Given the description of an element on the screen output the (x, y) to click on. 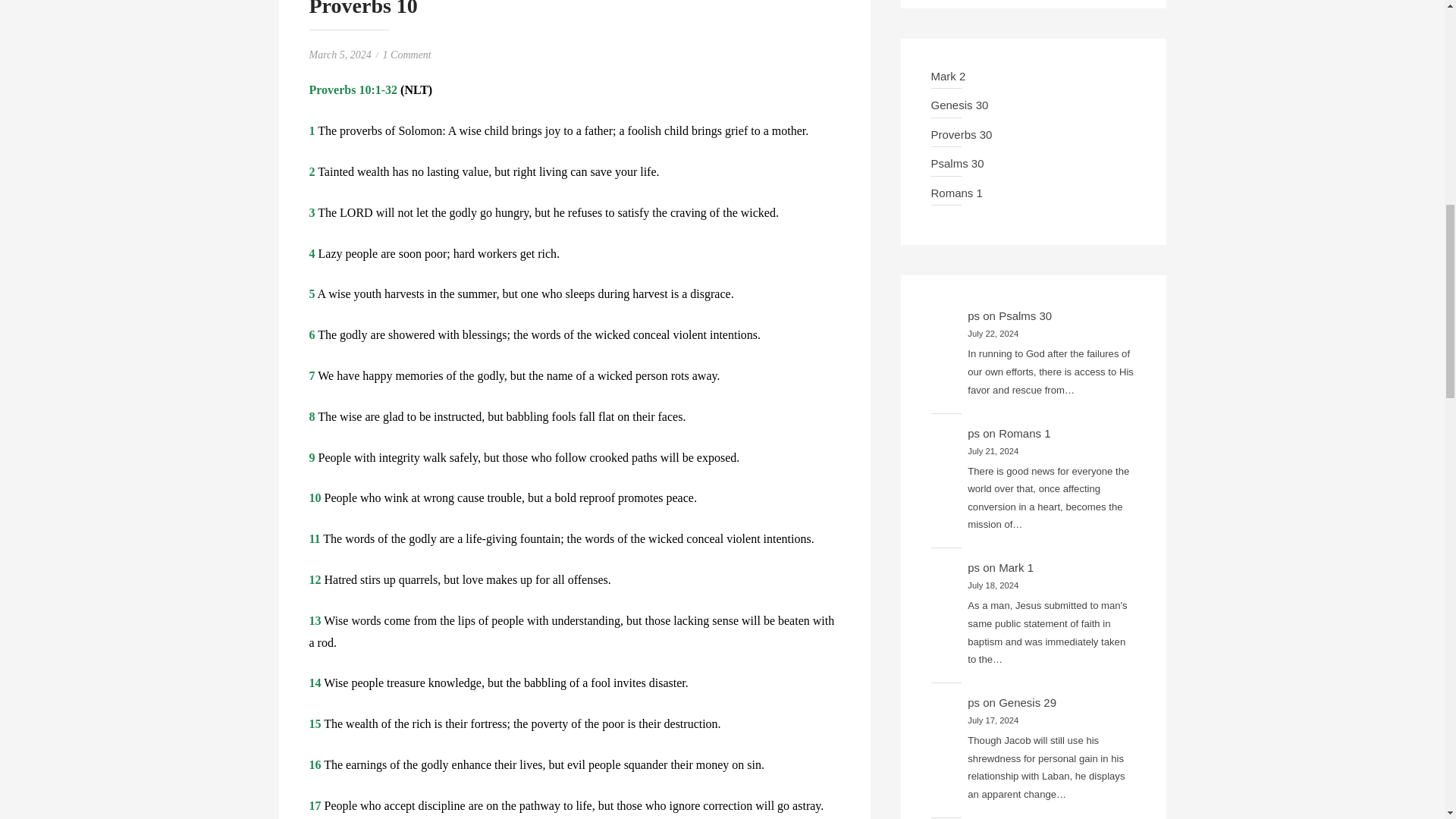
March 5, 2024 (339, 54)
Mark 2 (948, 75)
